Given the description of an element on the screen output the (x, y) to click on. 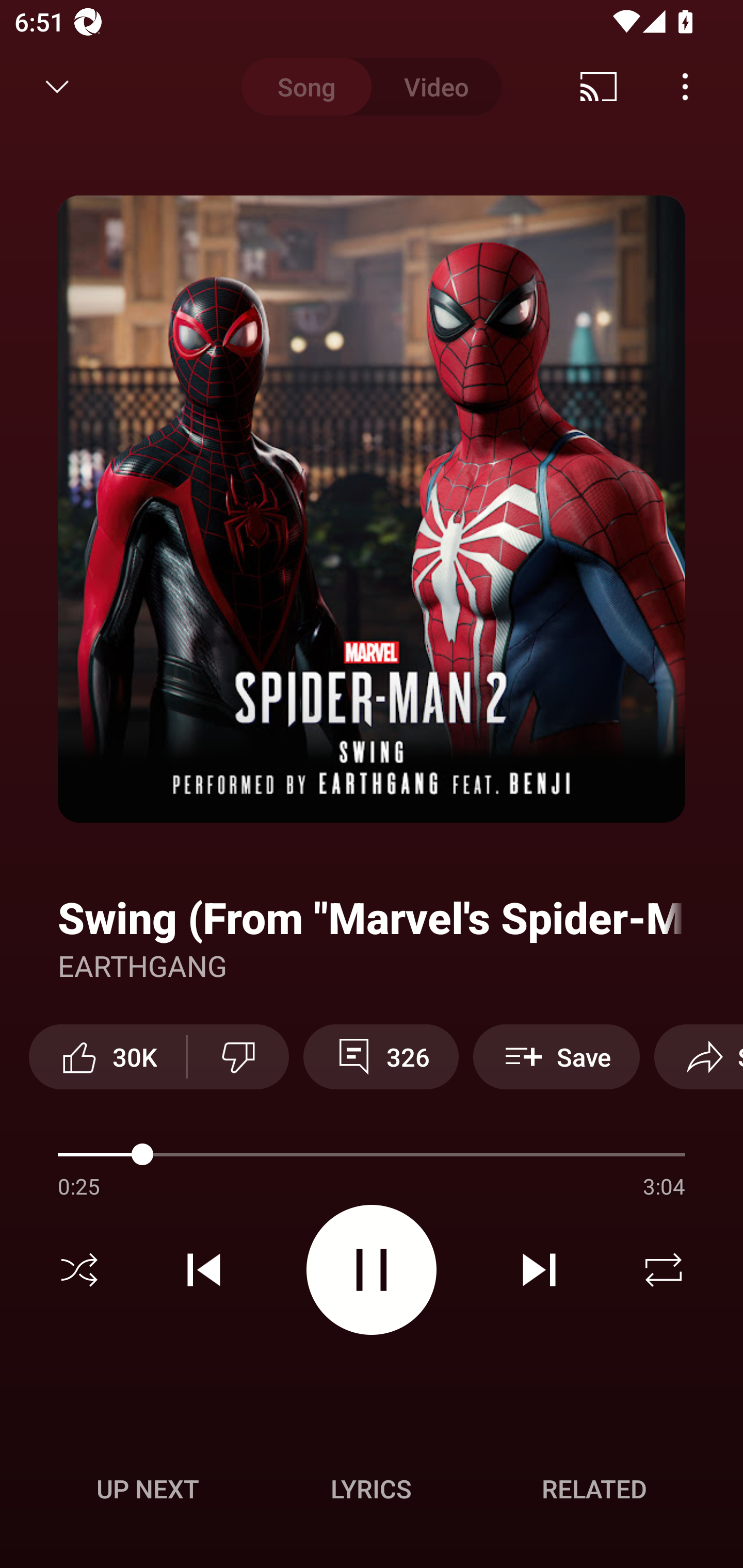
Minimize (57, 86)
Cast. Disconnected (598, 86)
Menu (684, 86)
30K like this video along with 30,883 other people (106, 1056)
Dislike (238, 1056)
326 View 326 comments (380, 1056)
Save Save to playlist (556, 1056)
Share (698, 1056)
Pause video (371, 1269)
Shuffle off (79, 1269)
Previous track (203, 1269)
Next track (538, 1269)
Repeat off (663, 1269)
Up next UP NEXT Lyrics LYRICS Related RELATED (371, 1491)
Lyrics LYRICS (370, 1488)
Related RELATED (594, 1488)
